Given the description of an element on the screen output the (x, y) to click on. 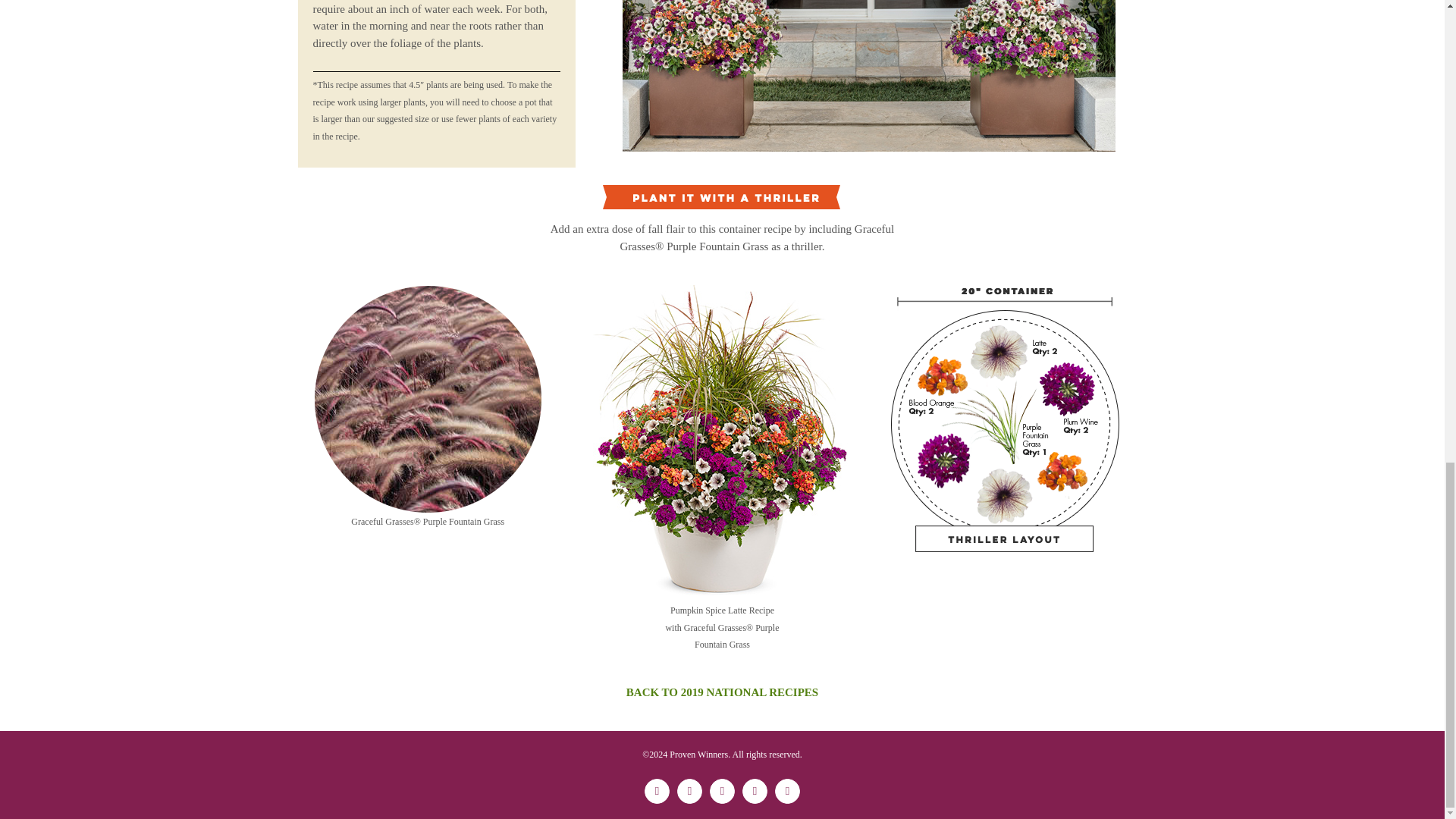
Instagram (722, 790)
pumpkin-spice-strip (869, 75)
PurpleFountainGrass-circle (427, 399)
Tiktok (754, 790)
Twitter (689, 790)
Facebook (657, 790)
YouTube (786, 790)
